Given the description of an element on the screen output the (x, y) to click on. 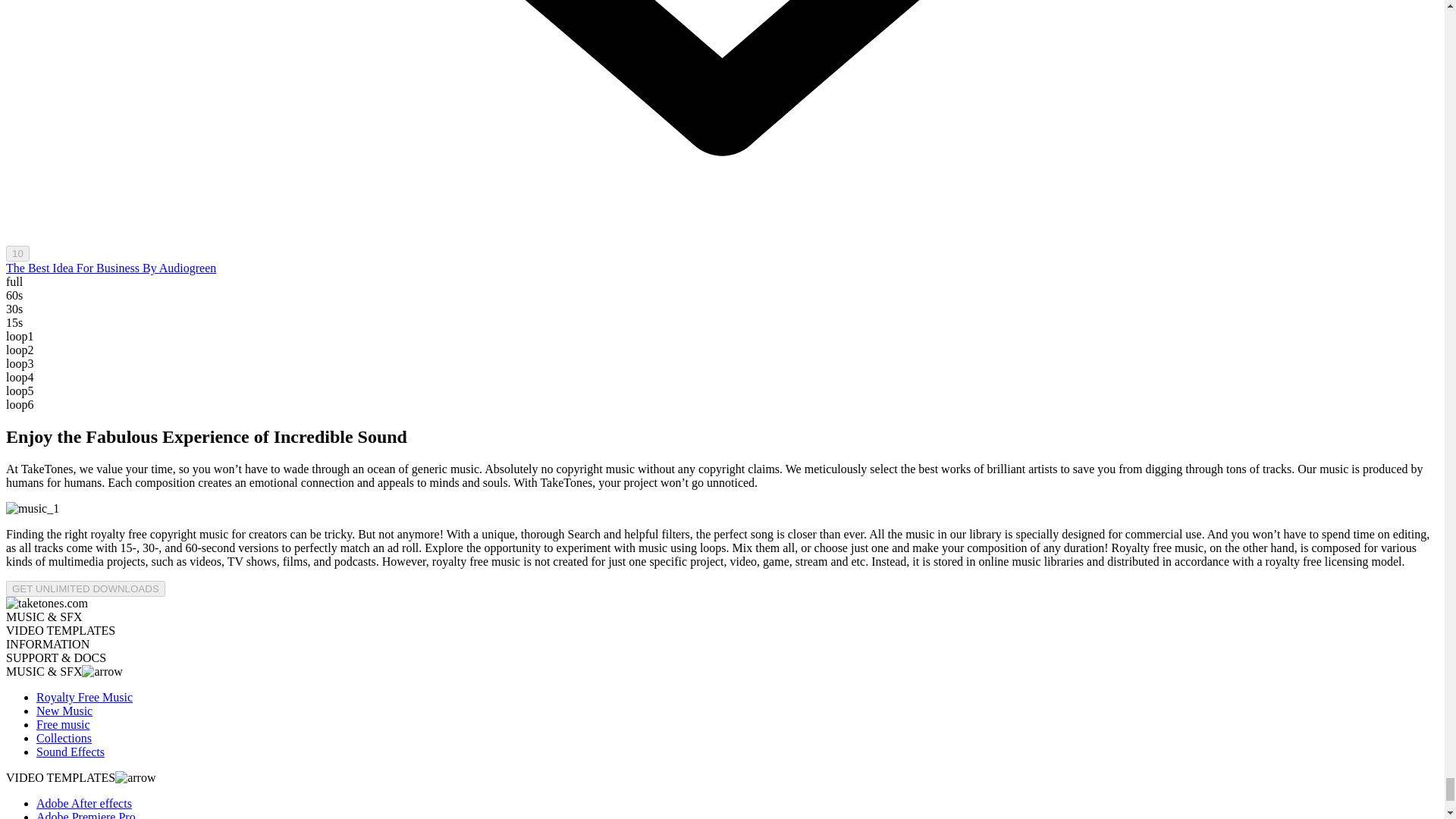
GET UNLIMITED DOWNLOADS (85, 588)
